Given the description of an element on the screen output the (x, y) to click on. 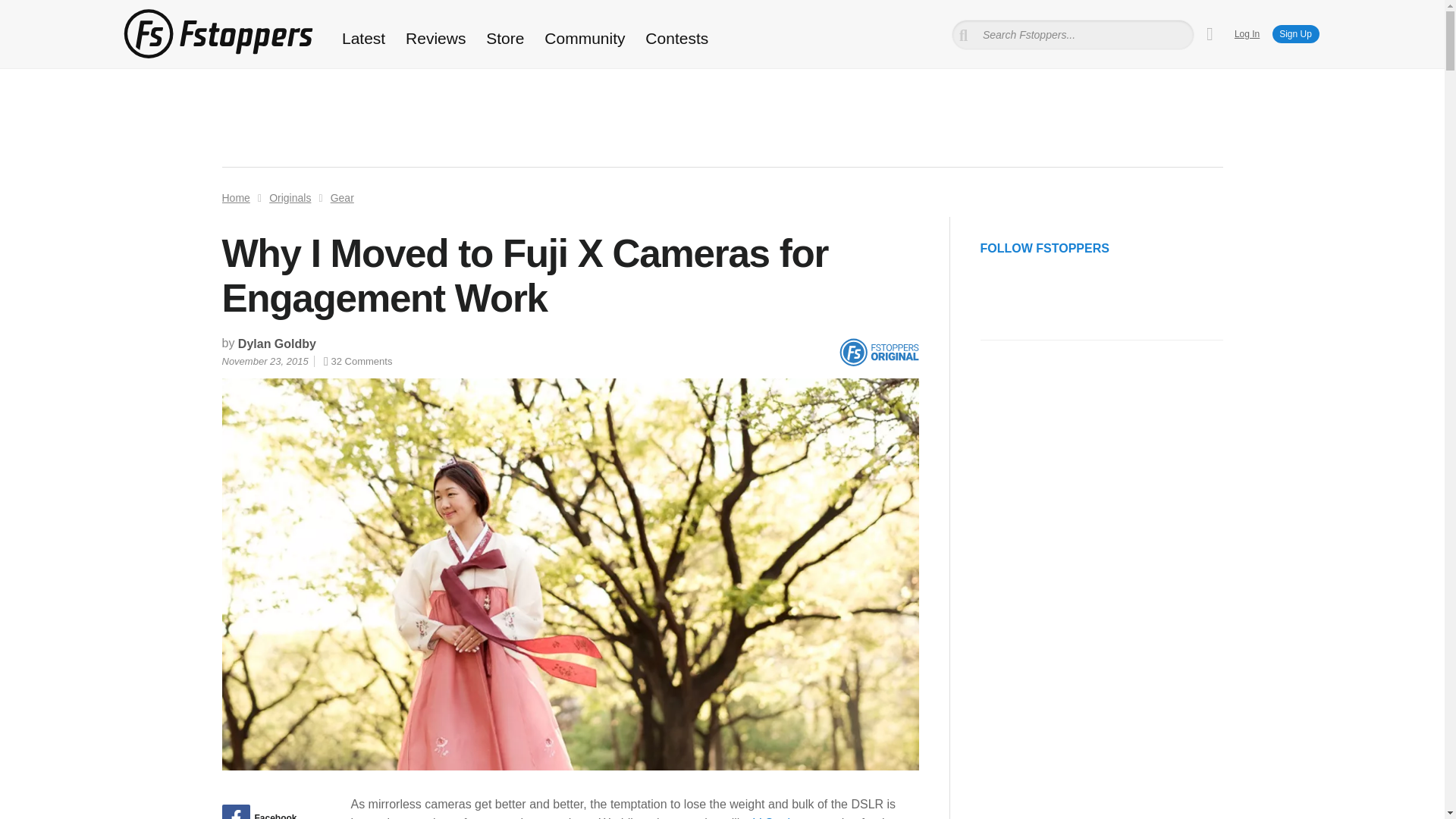
32 Comments (357, 360)
Fstoppers Original Article (878, 352)
Home (234, 197)
Sign Up (1295, 34)
Community (585, 37)
Fstoppers (217, 33)
Reviews (435, 37)
Search (32, 11)
Originals (290, 197)
Dylan Goldby (276, 344)
